Given the description of an element on the screen output the (x, y) to click on. 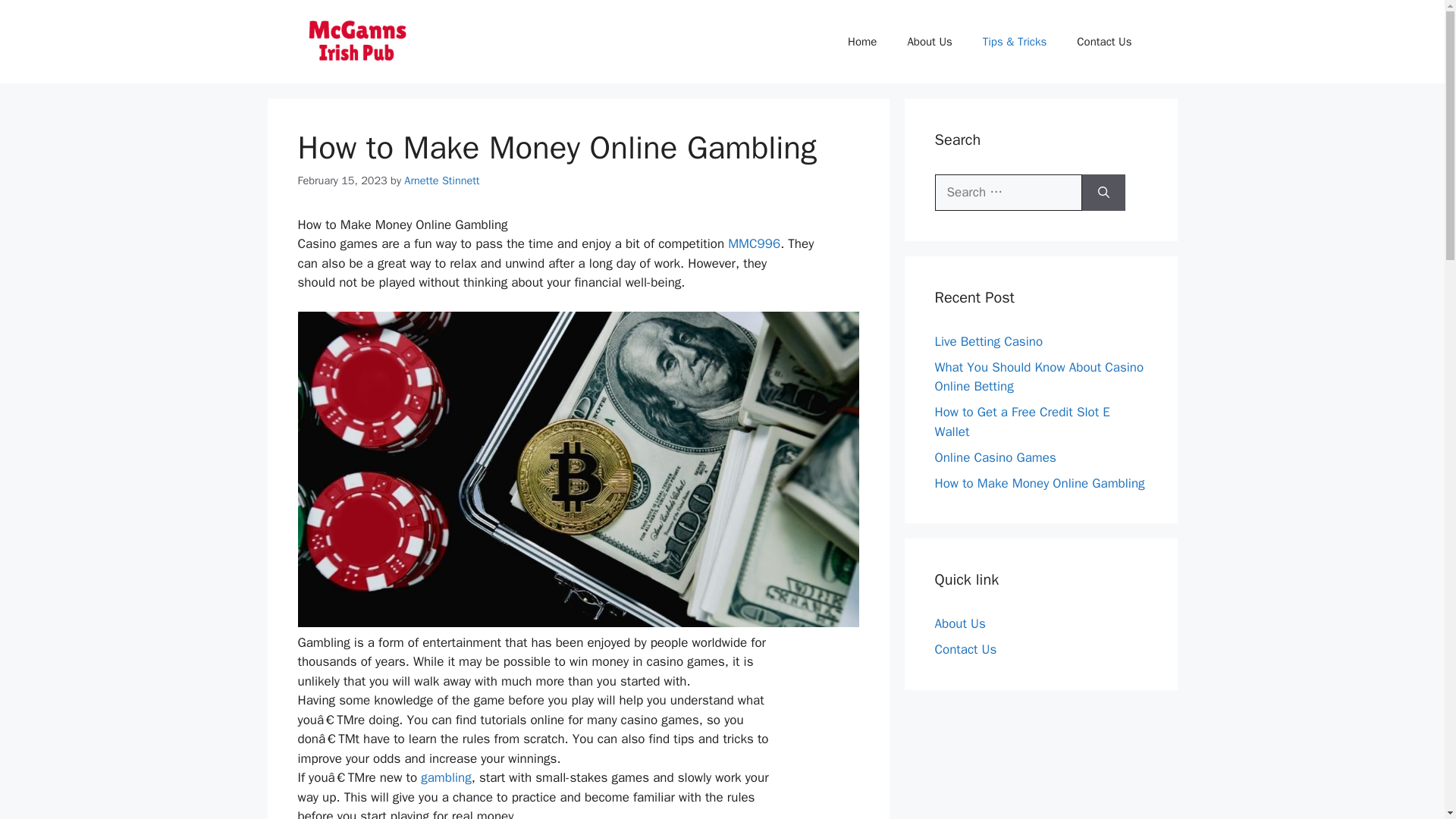
Contact Us (964, 649)
About Us (959, 623)
About Us (928, 41)
Home (861, 41)
Search for: (1007, 192)
Arnette Stinnett (441, 180)
gambling (445, 777)
Contact Us (1104, 41)
What You Should Know About Casino Online Betting (1038, 376)
How to Get a Free Credit Slot E Wallet (1021, 421)
